Given the description of an element on the screen output the (x, y) to click on. 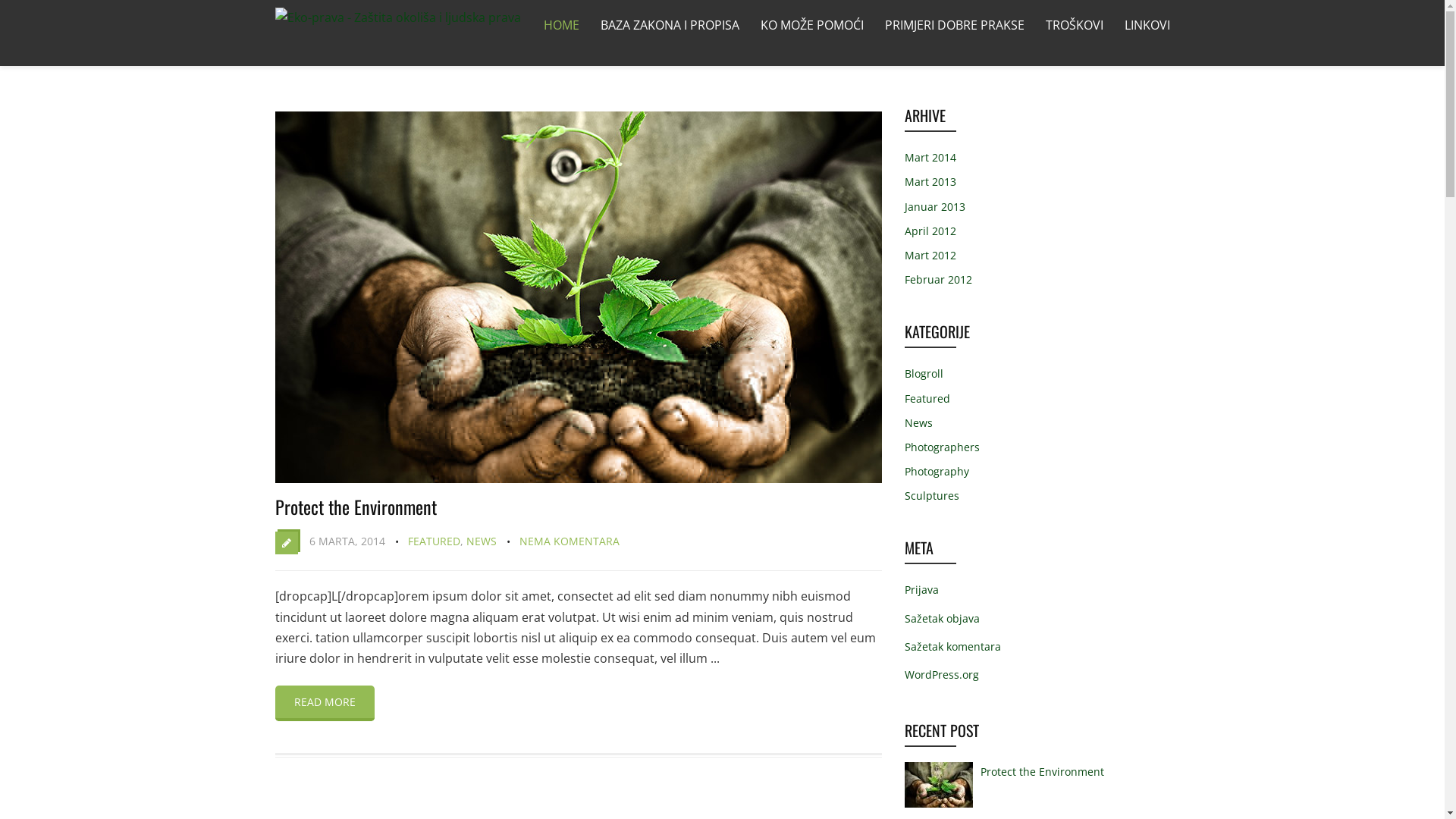
News Element type: text (917, 422)
PRIMJERI DOBRE PRAKSE Element type: text (953, 25)
Blogroll Element type: text (922, 373)
Mart 2014 Element type: text (929, 157)
WordPress.org Element type: text (940, 674)
Featured Element type: text (926, 398)
Photography Element type: text (935, 471)
Permanent Link to Protect the Environment Element type: hover (937, 806)
Mart 2012 Element type: text (929, 254)
HOME Element type: text (560, 25)
Sculptures Element type: text (930, 495)
LINKOVI Element type: text (1146, 25)
FEATURED Element type: text (433, 540)
Prijava Element type: text (920, 589)
Protect the Environment Element type: text (355, 506)
Permanent Link to Protect the Environment Element type: hover (577, 478)
Februar 2012 Element type: text (937, 279)
Mart 2013 Element type: text (929, 181)
NEMA KOMENTARA Element type: text (568, 540)
Protect the Environment Element type: text (1041, 771)
Januar 2013 Element type: text (933, 206)
Photographers Element type: text (941, 446)
READ MORE Element type: text (323, 703)
April 2012 Element type: text (929, 230)
NEWS Element type: text (480, 540)
BAZA ZAKONA I PROPISA Element type: text (669, 25)
